Given the description of an element on the screen output the (x, y) to click on. 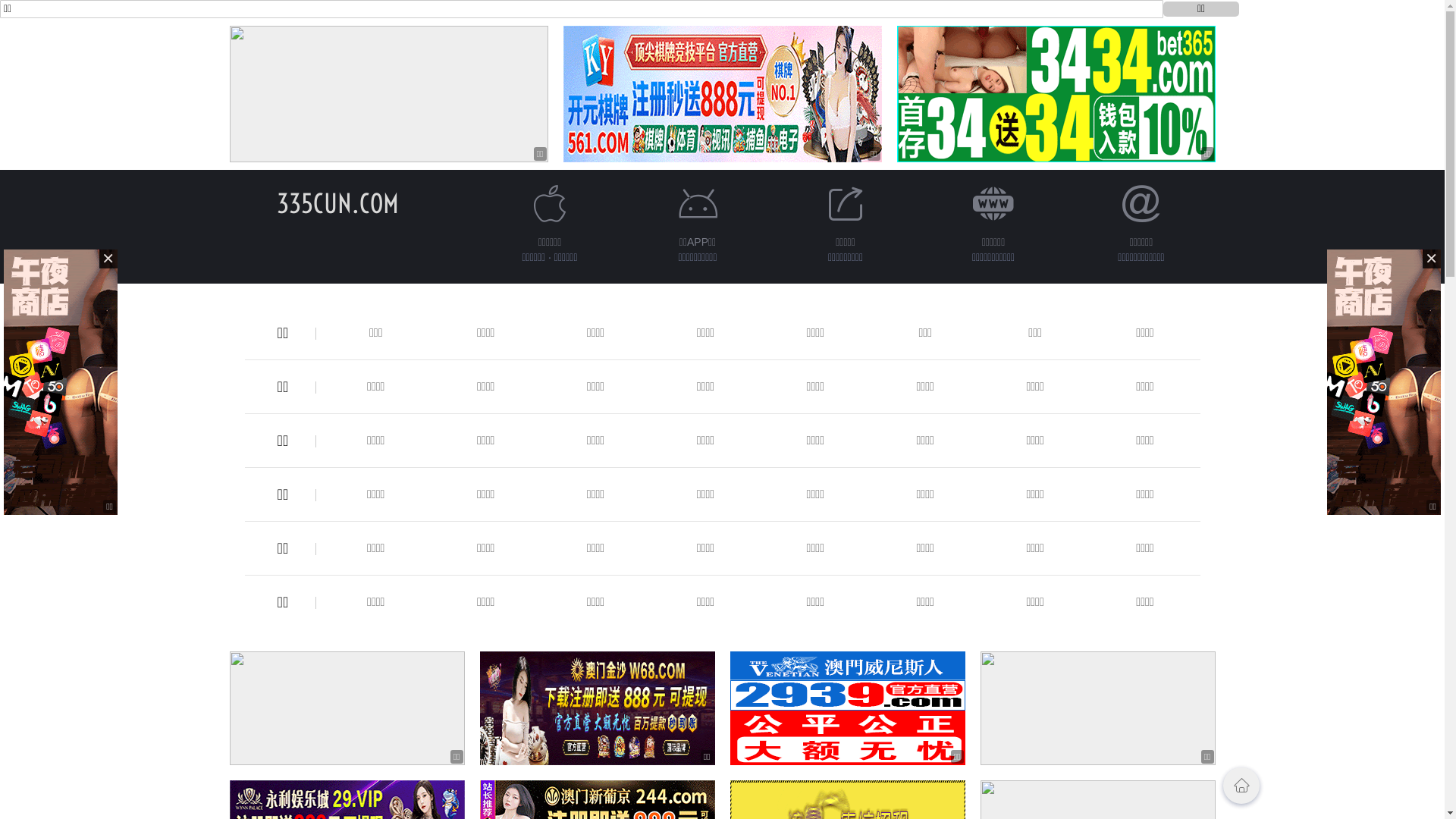
335CUN.COM Element type: text (337, 203)
